Given the description of an element on the screen output the (x, y) to click on. 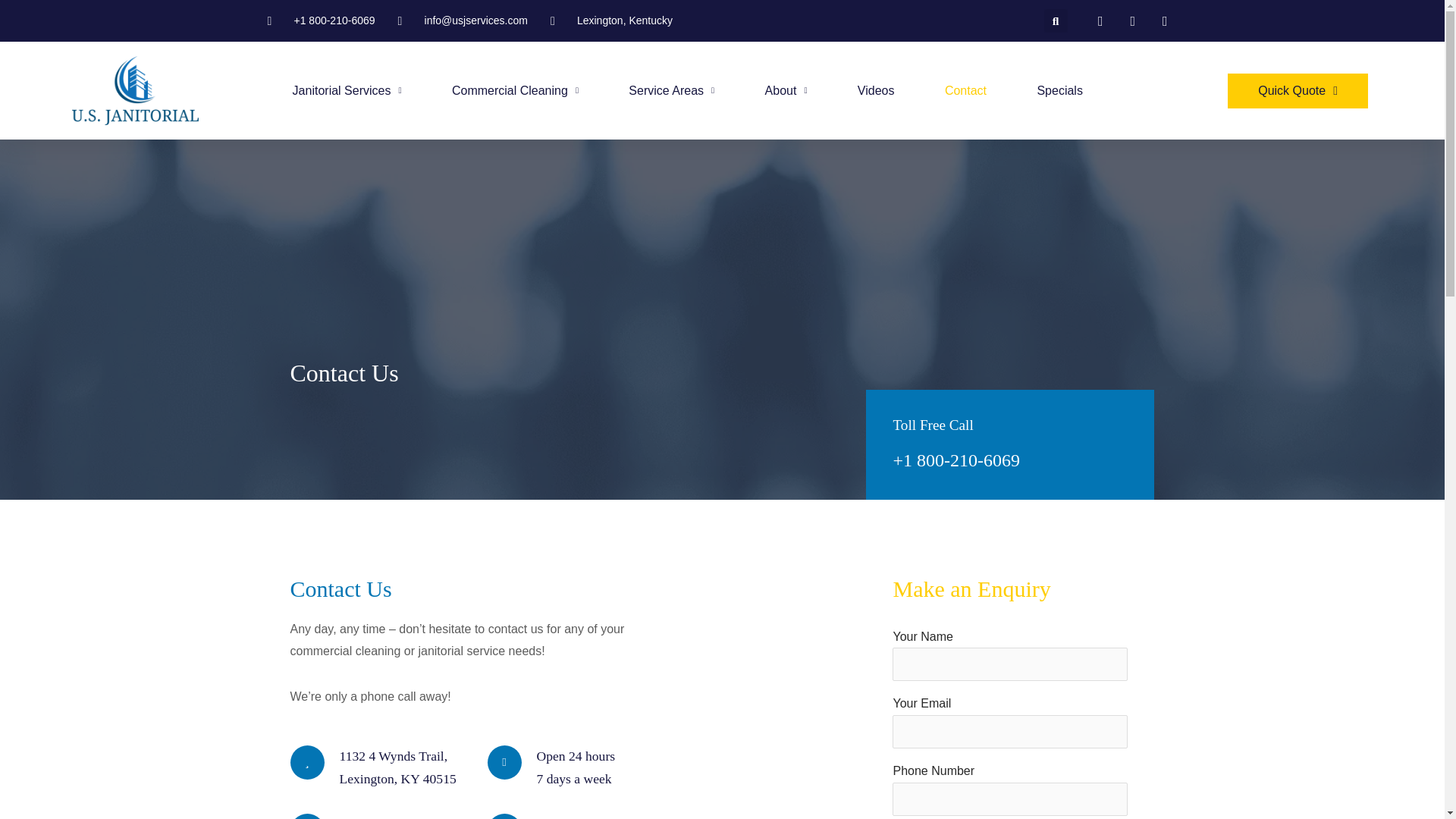
Janitorial Services (346, 90)
Service Areas (671, 90)
Commercial Cleaning (515, 90)
